Given the description of an element on the screen output the (x, y) to click on. 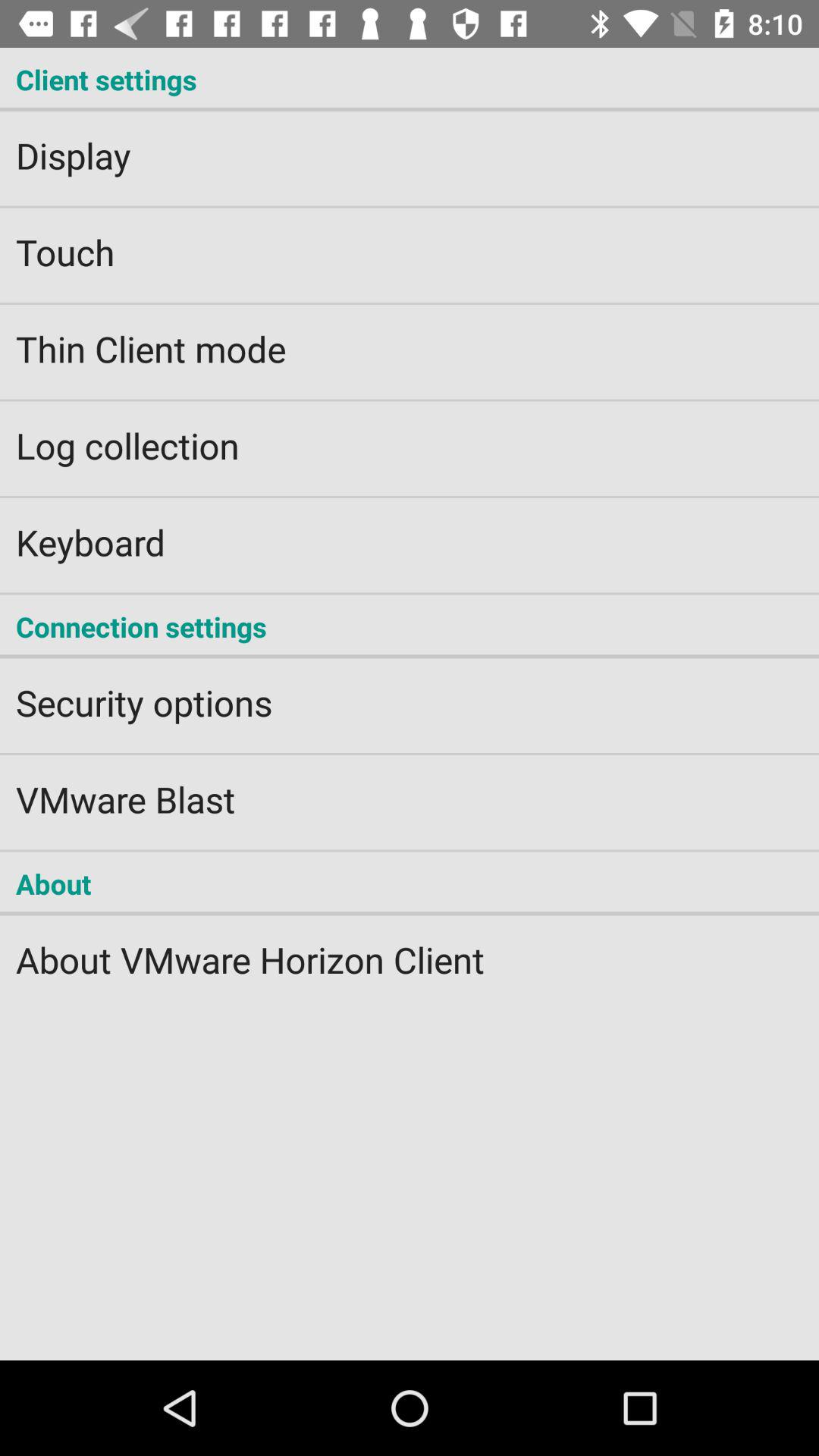
open the item below connection settings item (409, 692)
